Given the description of an element on the screen output the (x, y) to click on. 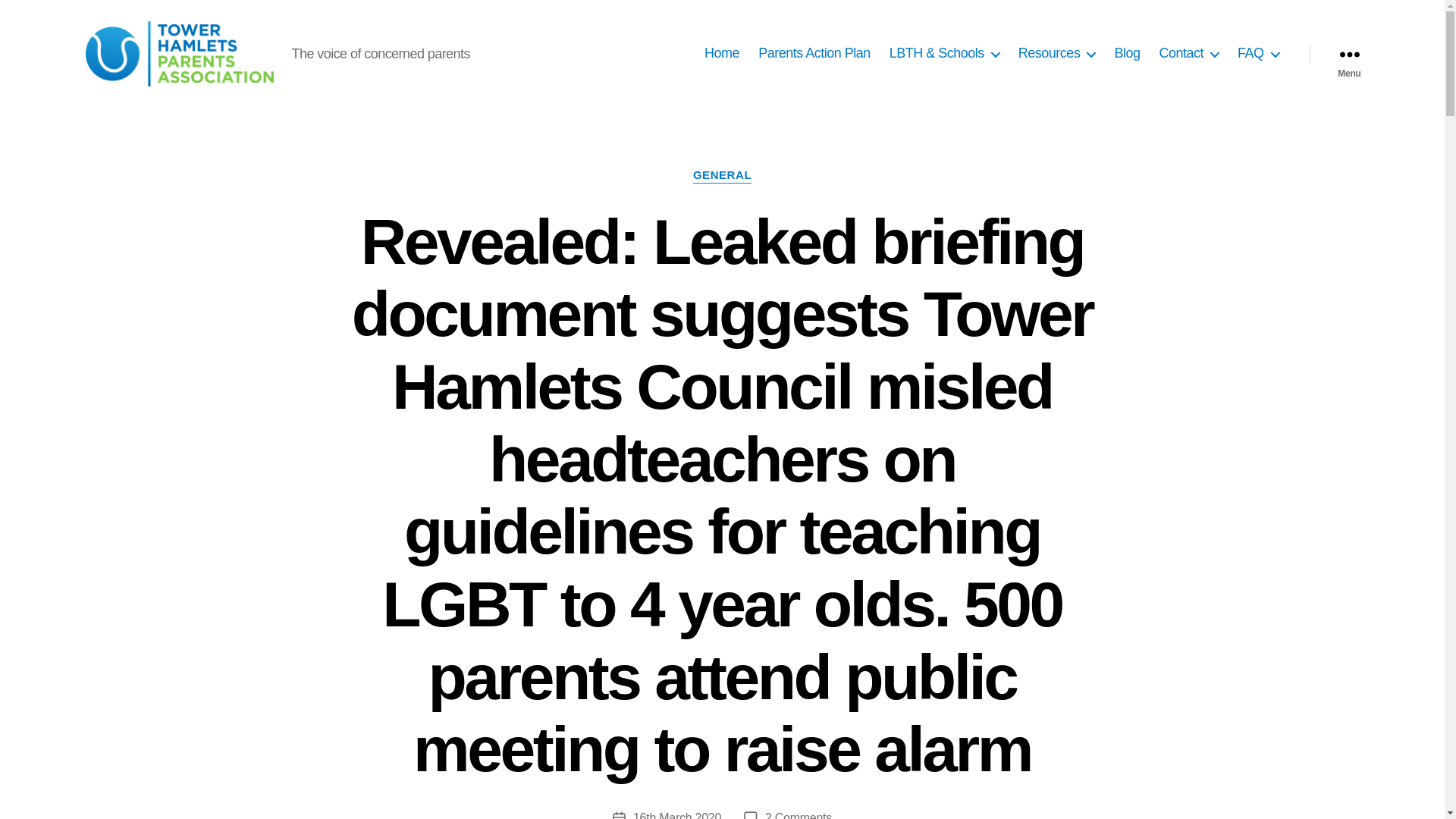
Parents Action Plan (814, 53)
Contact (1188, 53)
Home (721, 53)
FAQ (1258, 53)
Resources (1056, 53)
Menu (1348, 53)
Blog (1126, 53)
